Given the description of an element on the screen output the (x, y) to click on. 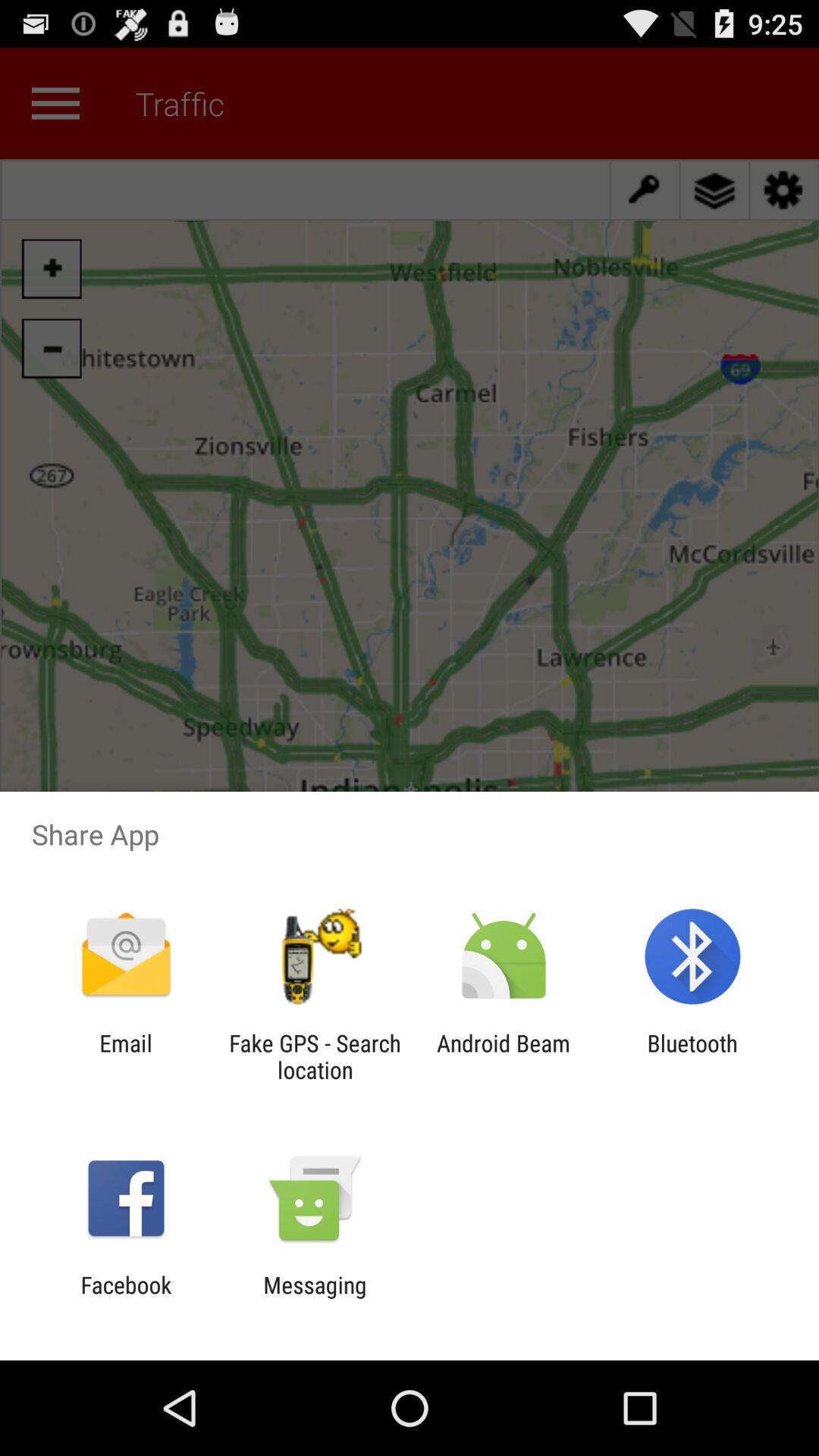
turn off the app to the right of the android beam item (692, 1056)
